Given the description of an element on the screen output the (x, y) to click on. 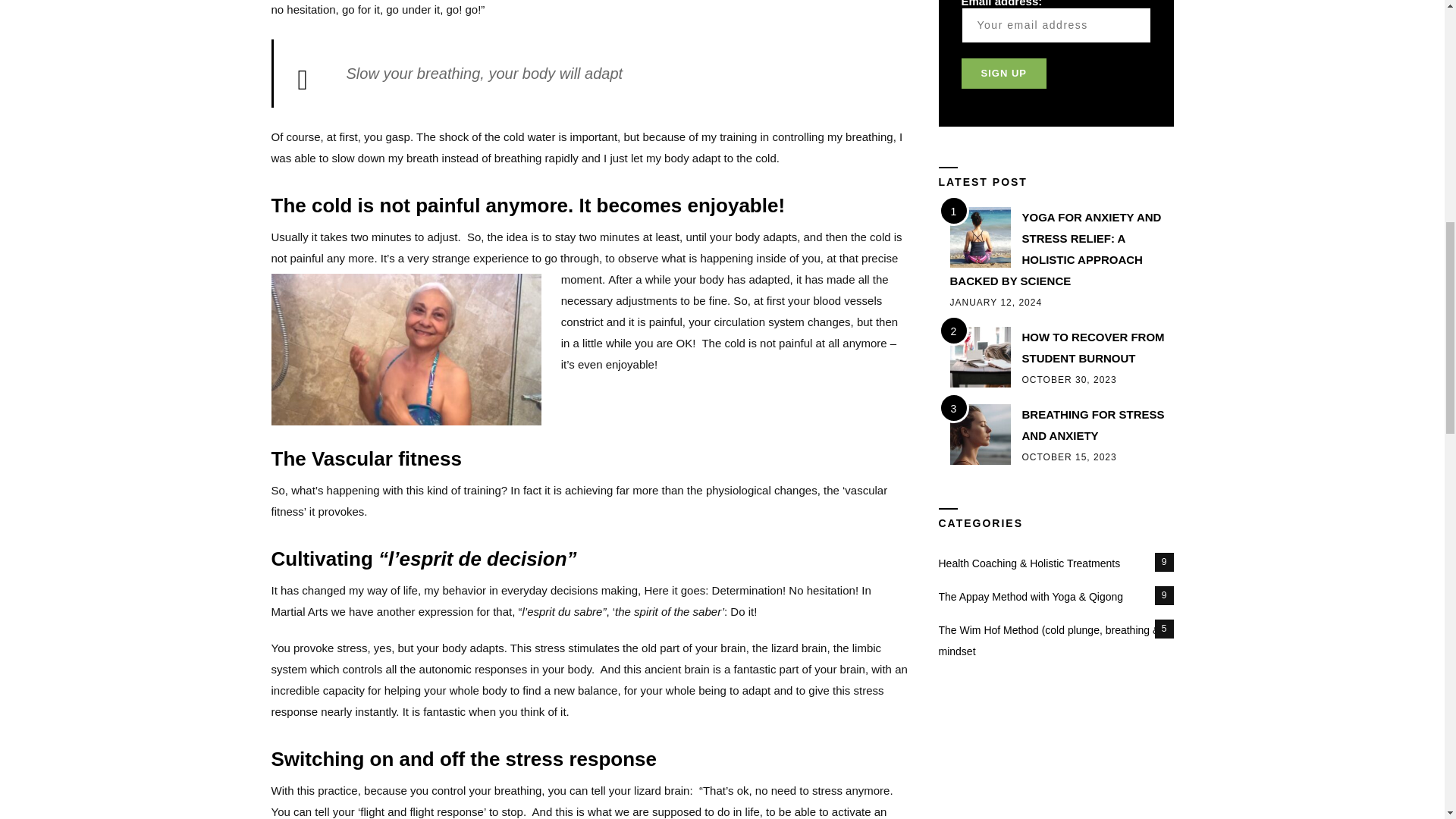
Sign up (1003, 73)
HOW TO RECOVER FROM STUDENT BURNOUT (1093, 347)
Sign up (1003, 73)
BREATHING FOR STRESS AND ANXIETY (1093, 424)
